Given the description of an element on the screen output the (x, y) to click on. 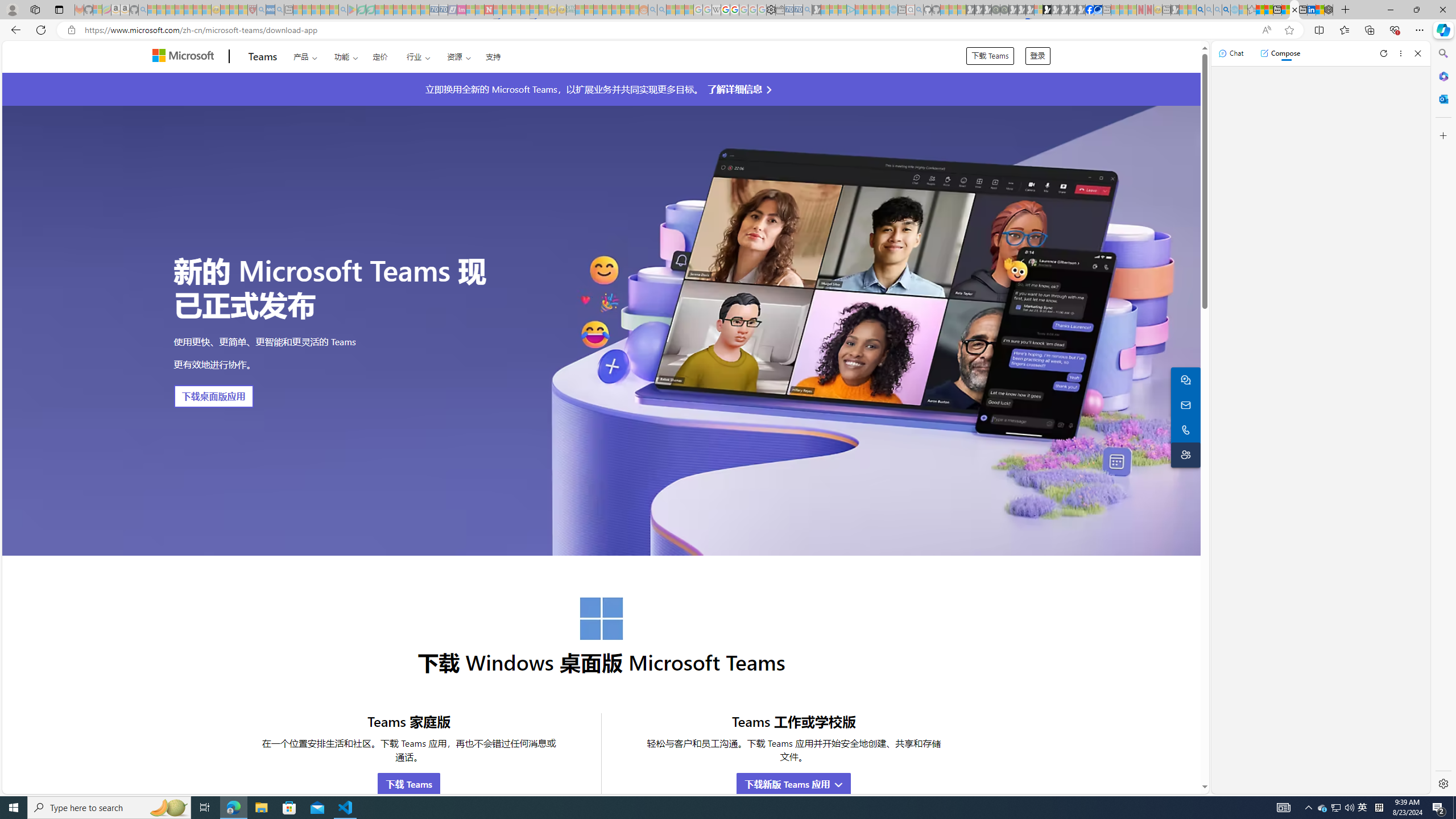
Favorites - Sleeping (1251, 9)
Pets - MSN - Sleeping (324, 9)
Wallet - Sleeping (779, 9)
Cheap Hotels - Save70.com - Sleeping (442, 9)
